Given the description of an element on the screen output the (x, y) to click on. 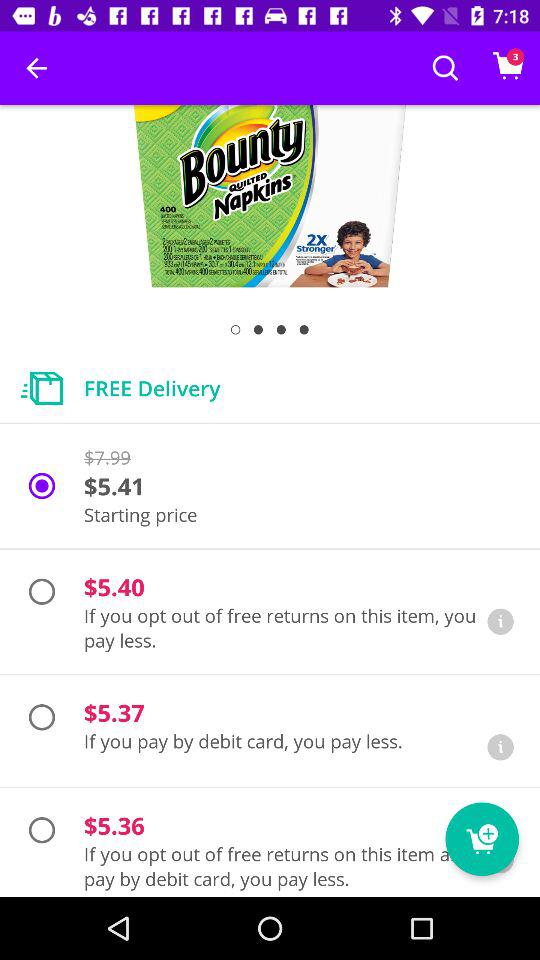
help option (500, 621)
